Given the description of an element on the screen output the (x, y) to click on. 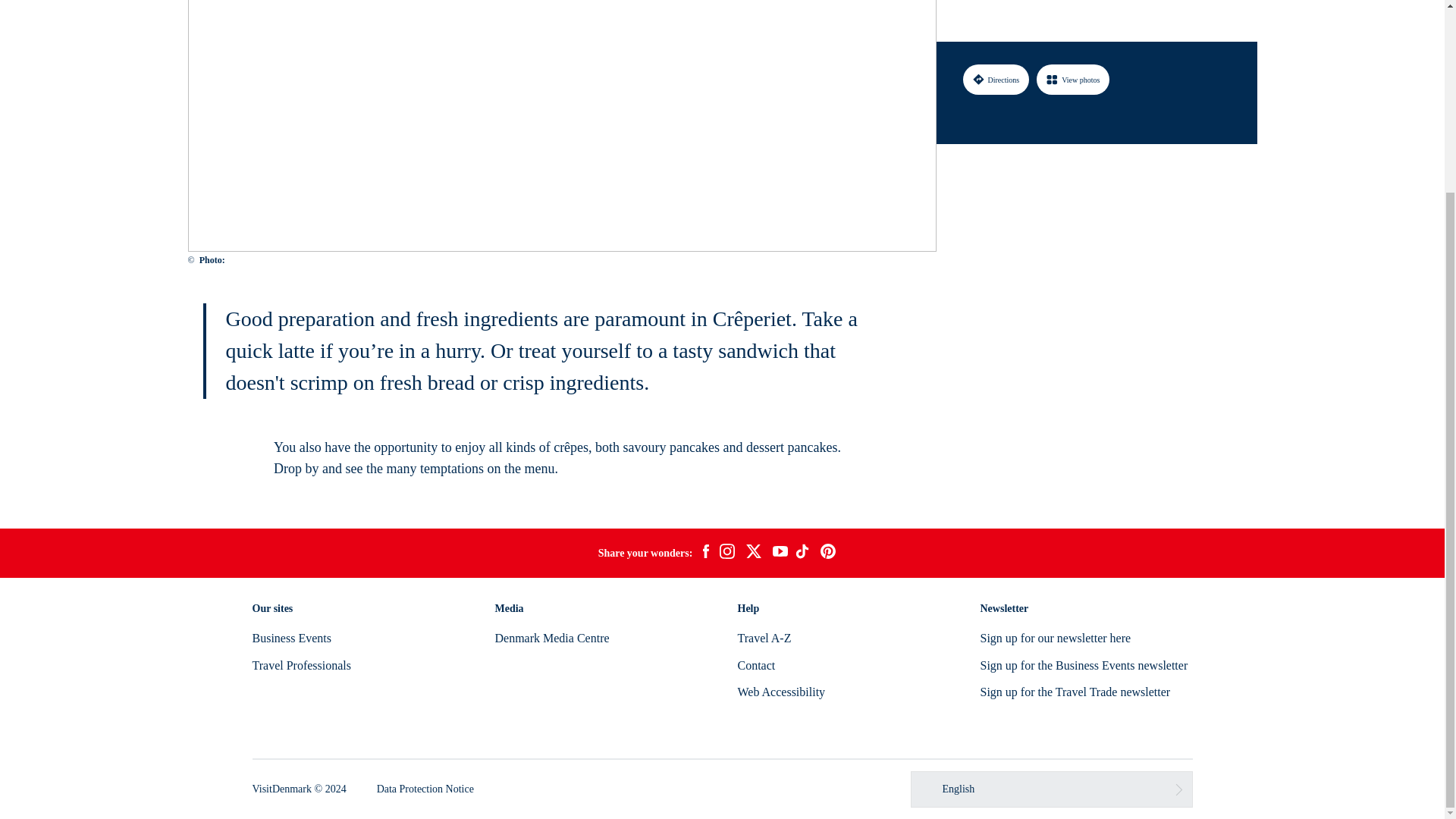
youtube (780, 553)
Sign up for our newsletter here (1055, 637)
Web Accessibility (780, 691)
Sign up for the Travel Trade newsletter (1074, 691)
Sign up for our newsletter here (1055, 637)
Data Protection Notice (425, 789)
Data Protection Notice (425, 789)
Denmark Media Centre (551, 637)
tiktok (804, 553)
twitter (753, 553)
facebook (705, 553)
Denmark Media Centre (551, 637)
Contact (755, 665)
Contact (755, 665)
Web Accessibility (780, 691)
